Given the description of an element on the screen output the (x, y) to click on. 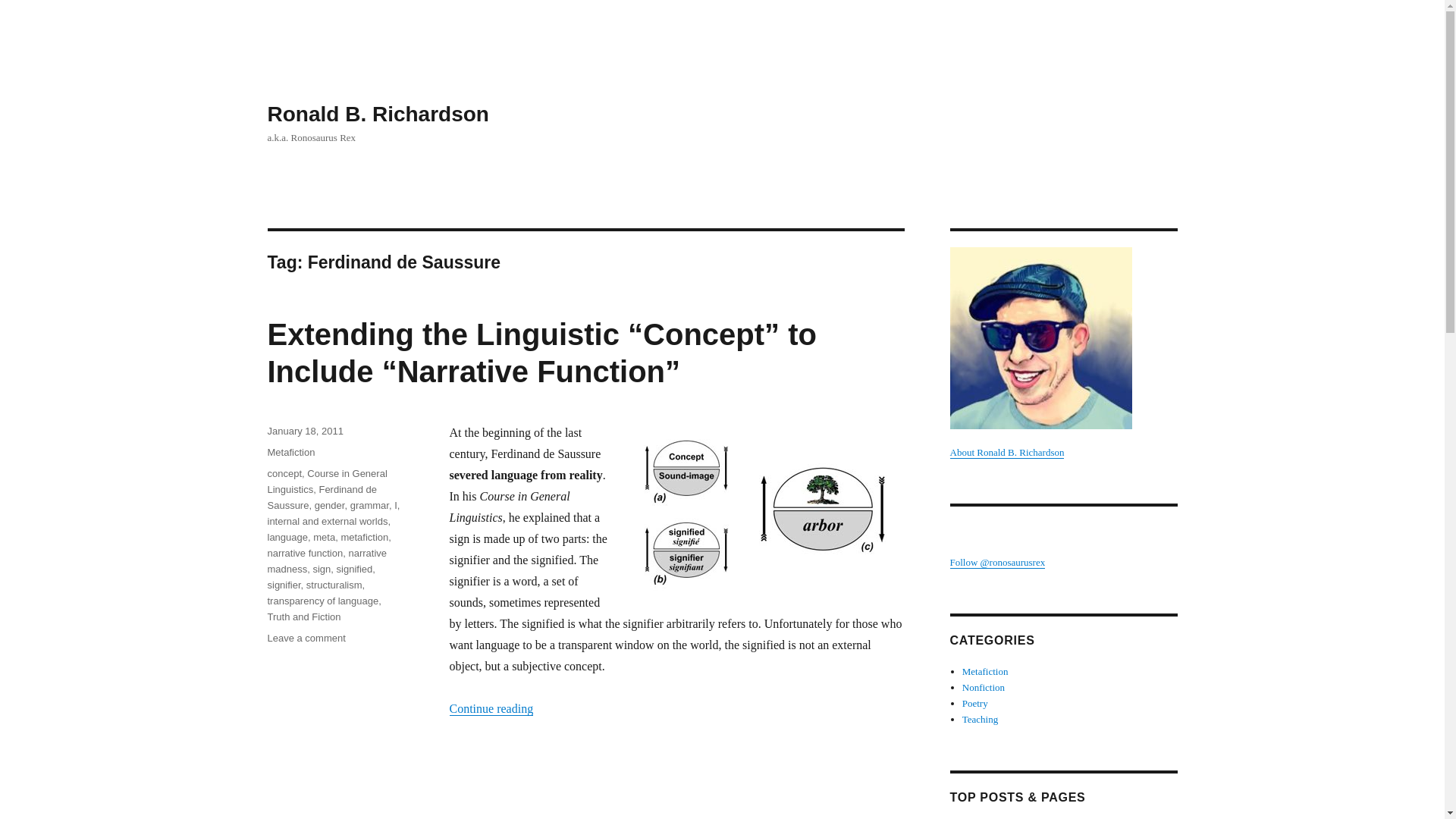
narrative madness (326, 560)
meta (323, 536)
Ferdinand de Saussure (321, 497)
gender (329, 505)
January 18, 2011 (304, 430)
Poetry (975, 703)
Nonfiction (983, 686)
transparency of language (322, 600)
Metafiction (985, 671)
signifier (282, 584)
metafiction (364, 536)
Truth and Fiction (303, 616)
language (286, 536)
Ronald B. Richardson (376, 114)
narrative function (304, 552)
